Given the description of an element on the screen output the (x, y) to click on. 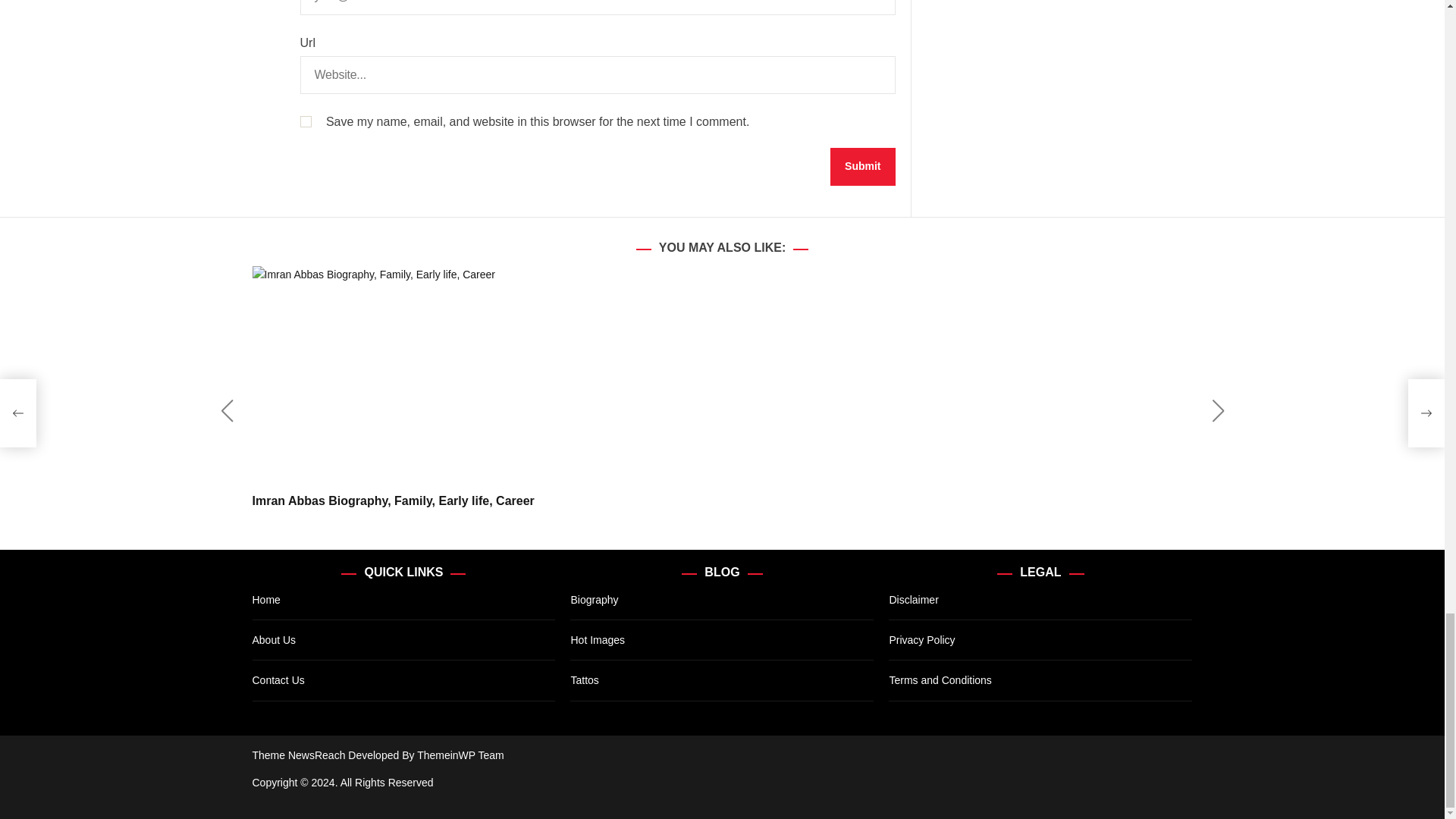
yes (305, 121)
Submit (862, 166)
